Given the description of an element on the screen output the (x, y) to click on. 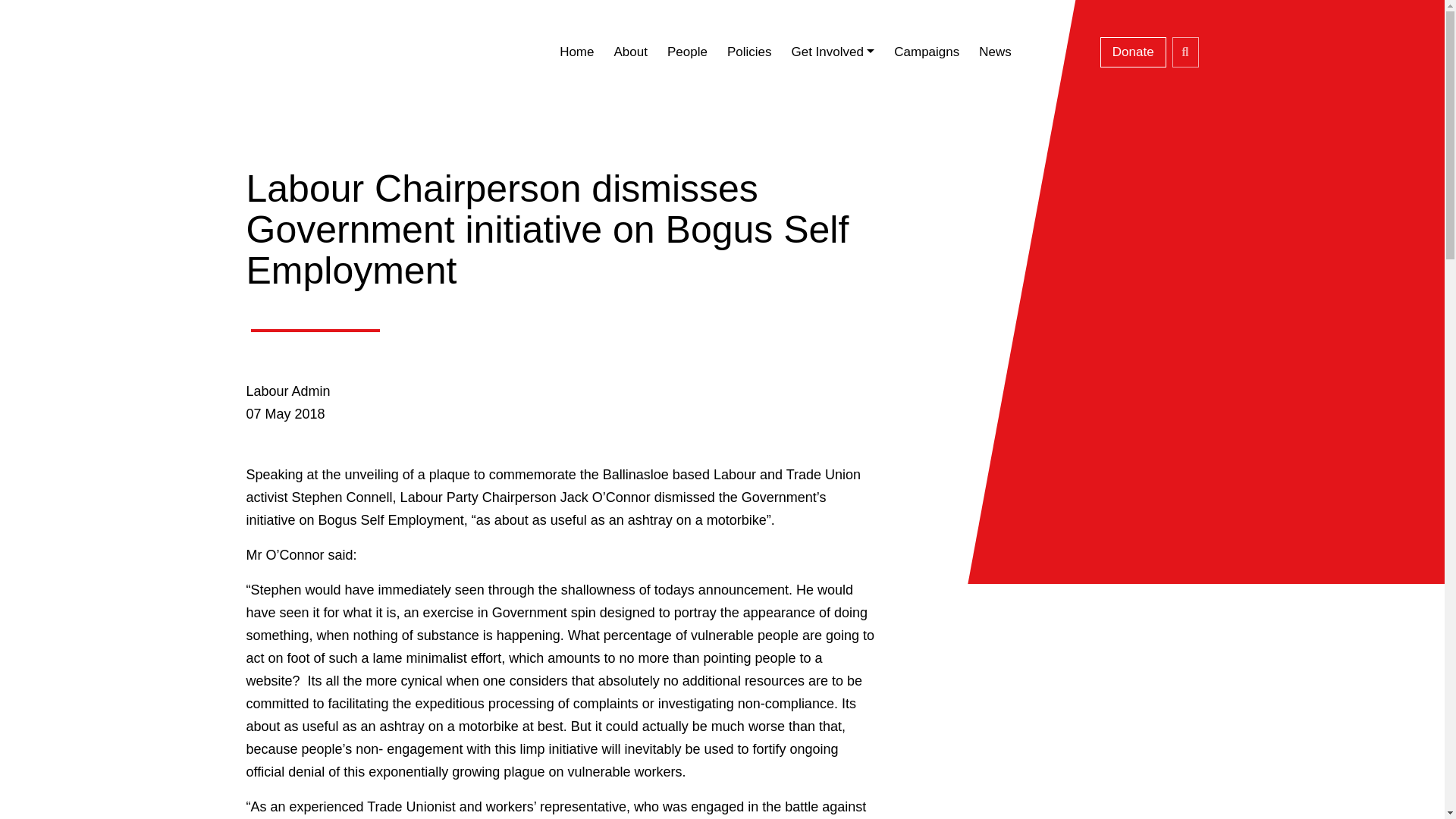
People (687, 51)
About (630, 51)
Get Involved (831, 51)
Labour Admin (288, 391)
Campaigns (926, 51)
Donate (1133, 51)
Policies (749, 51)
Home (577, 51)
News (995, 51)
